Given the description of an element on the screen output the (x, y) to click on. 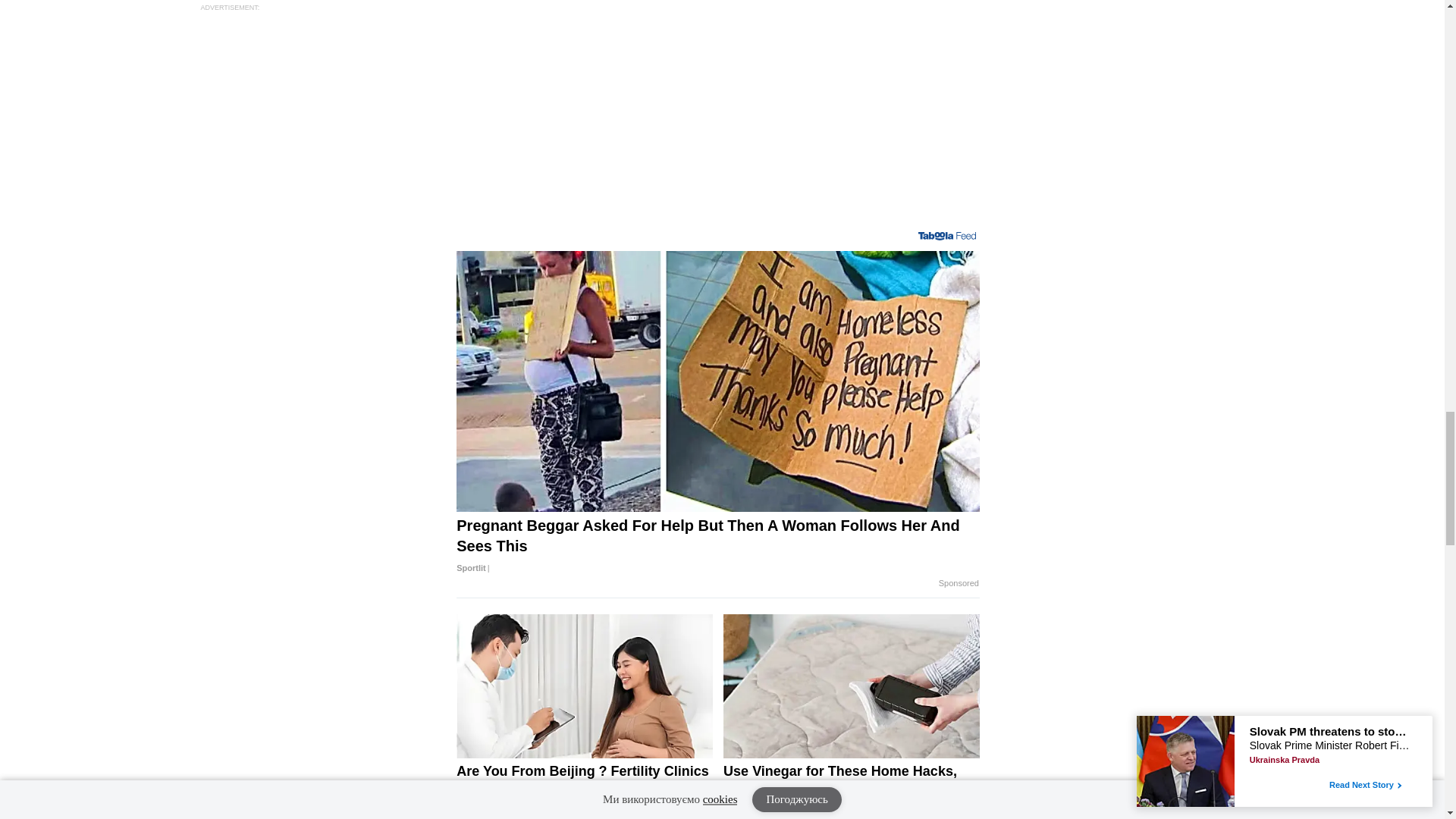
Sponsored (958, 583)
Use Vinegar for These Home Hacks, Here's Why (851, 790)
